Given the description of an element on the screen output the (x, y) to click on. 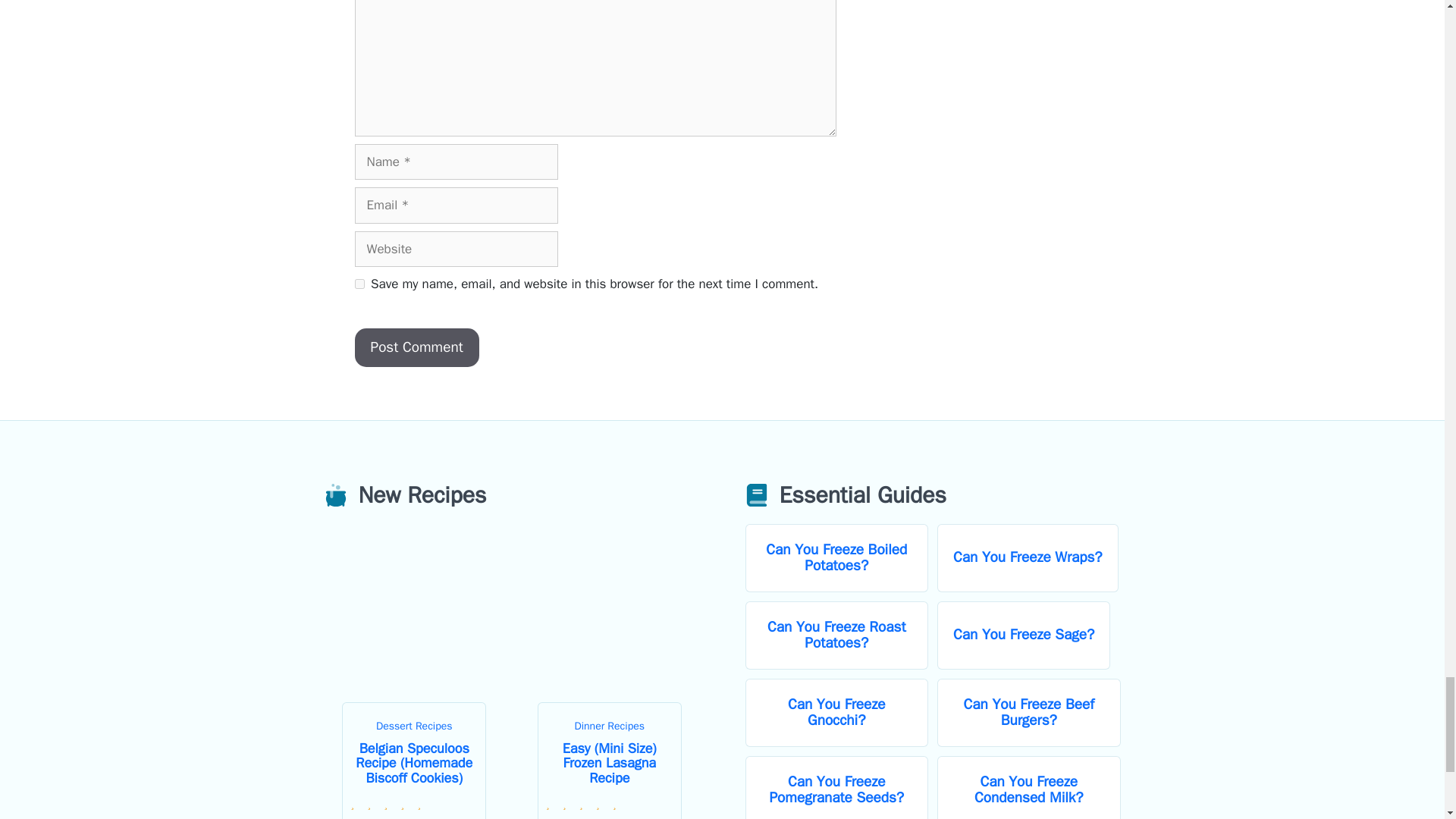
yes (360, 284)
Post Comment (417, 347)
